Given the description of an element on the screen output the (x, y) to click on. 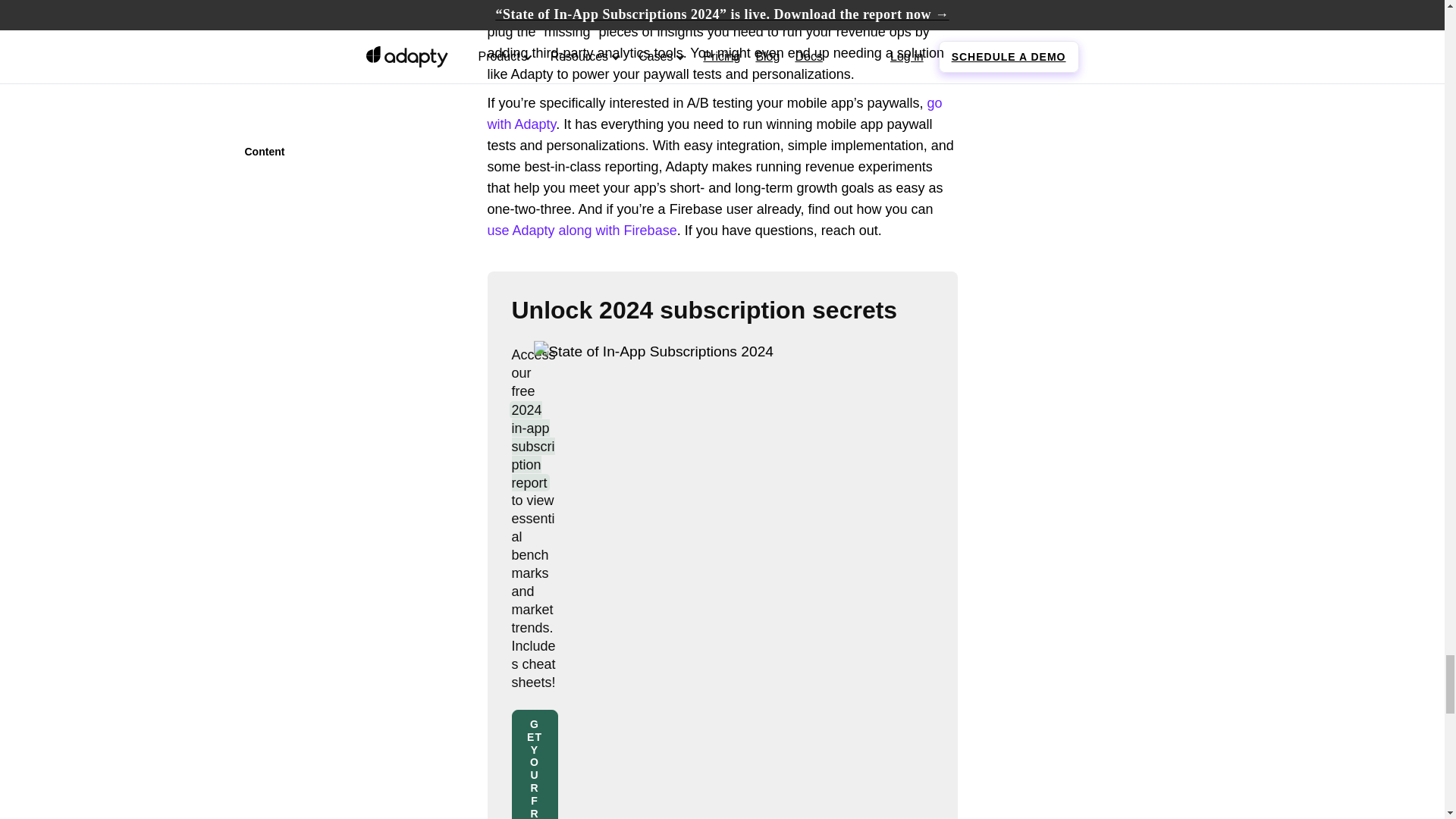
Report 2024 (715, 456)
